Given the description of an element on the screen output the (x, y) to click on. 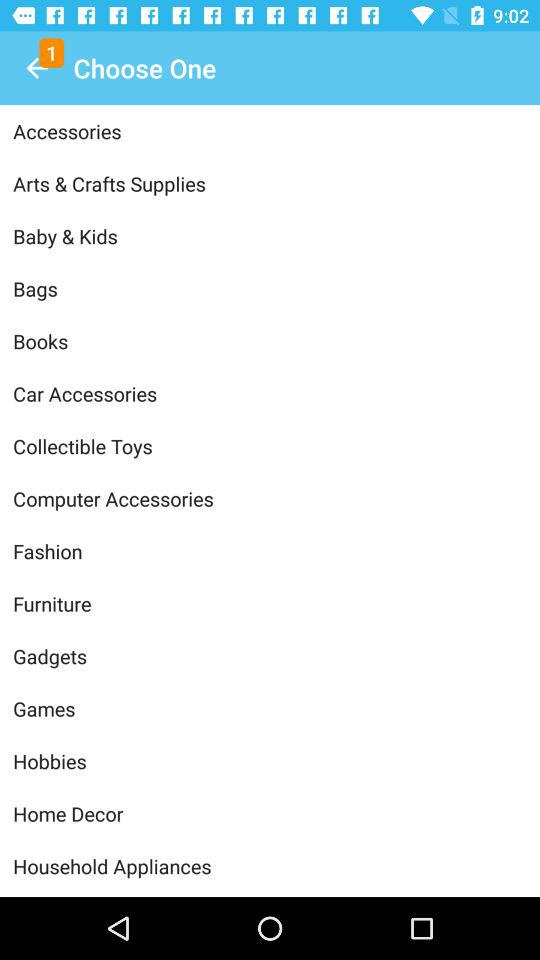
open the item above books (269, 288)
